Given the description of an element on the screen output the (x, y) to click on. 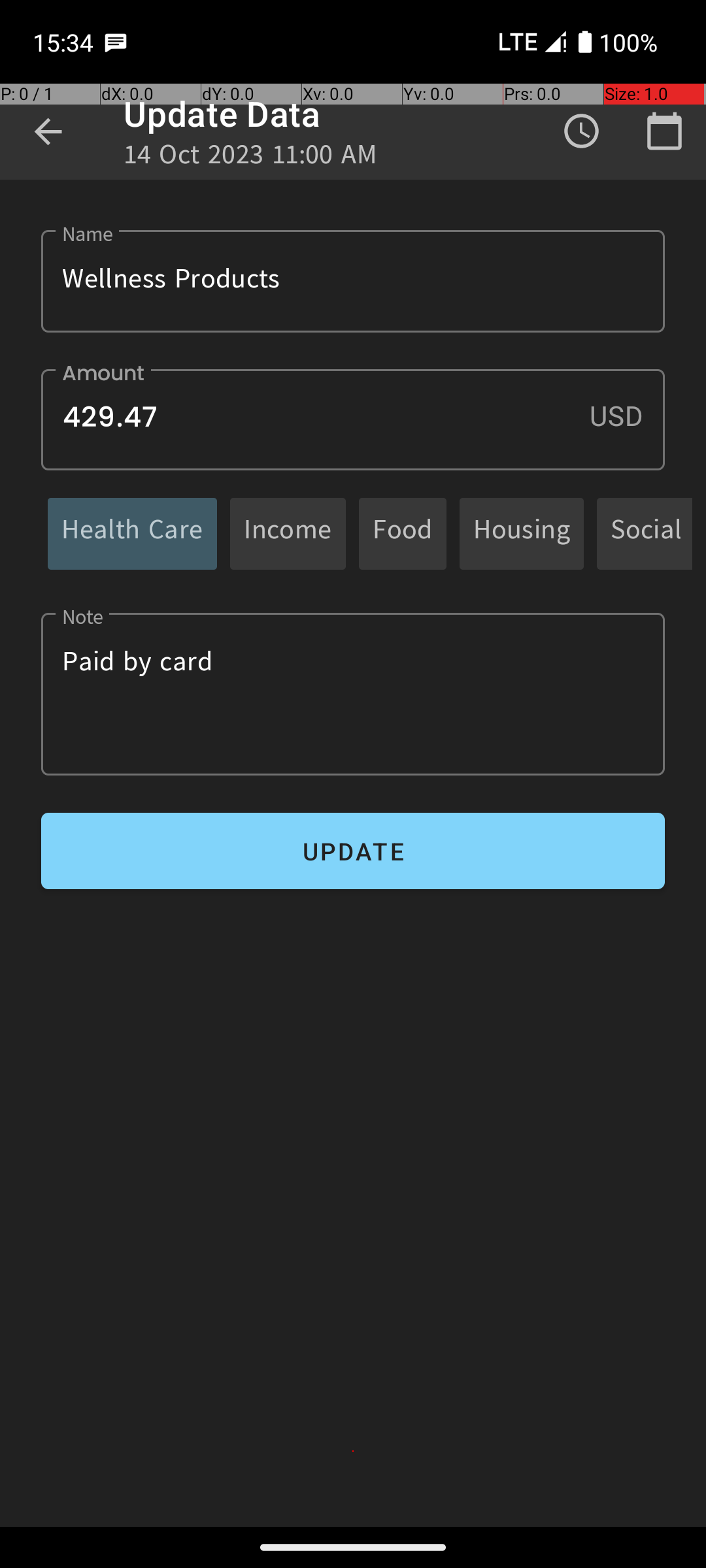
14 Oct 2023 11:00 AM Element type: android.widget.TextView (250, 157)
Wellness Products Element type: android.widget.EditText (352, 280)
429.47 Element type: android.widget.EditText (352, 419)
Health Care Element type: android.widget.TextView (132, 533)
